Given the description of an element on the screen output the (x, y) to click on. 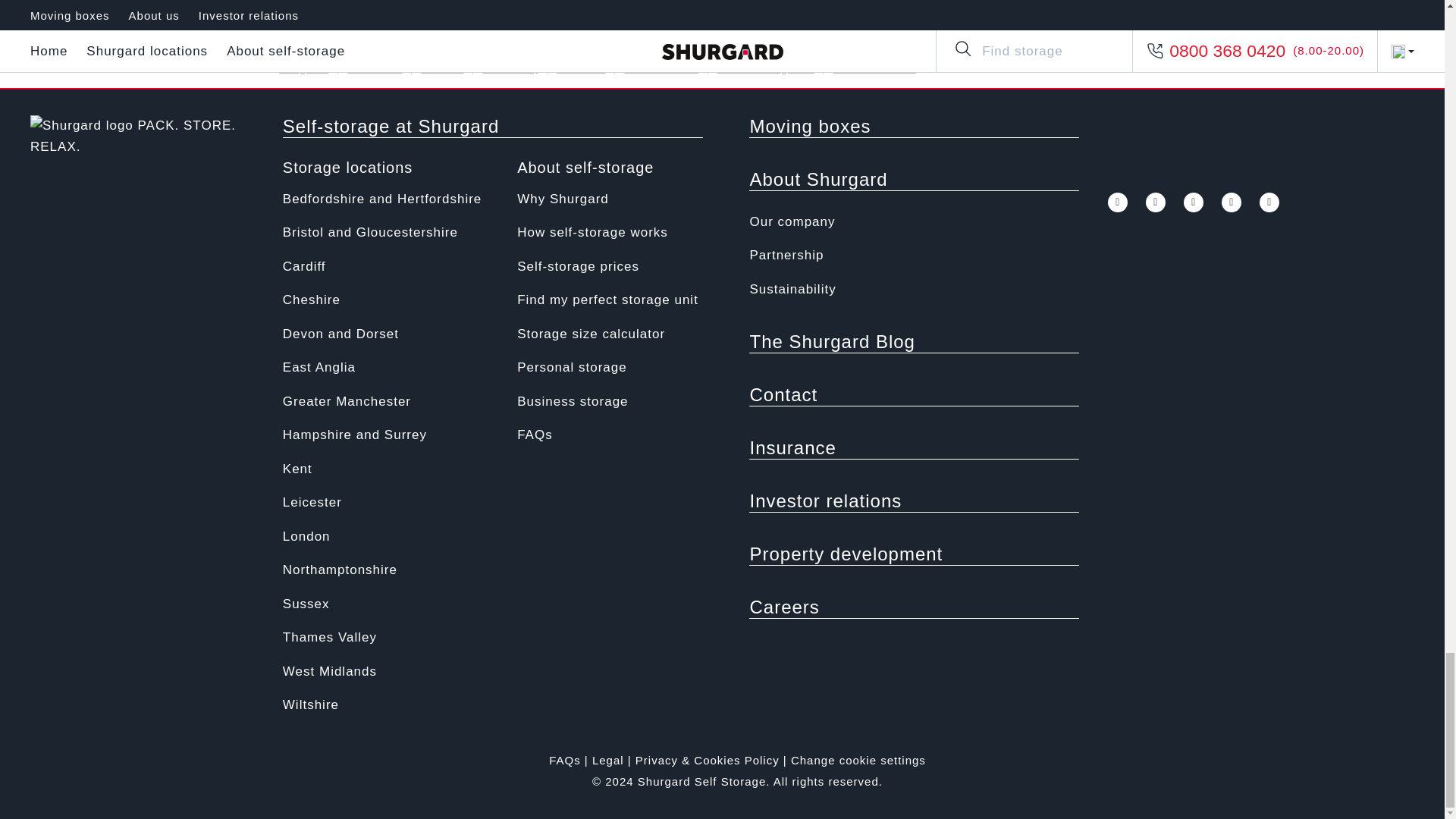
facebook (1117, 202)
twitter (1040, 68)
facebook (1002, 68)
linkedin (1269, 202)
youtube (1078, 68)
youtube (1193, 202)
twitter (1155, 202)
pinterest (1231, 202)
linkedin (1154, 68)
pinterest (1116, 68)
